Given the description of an element on the screen output the (x, y) to click on. 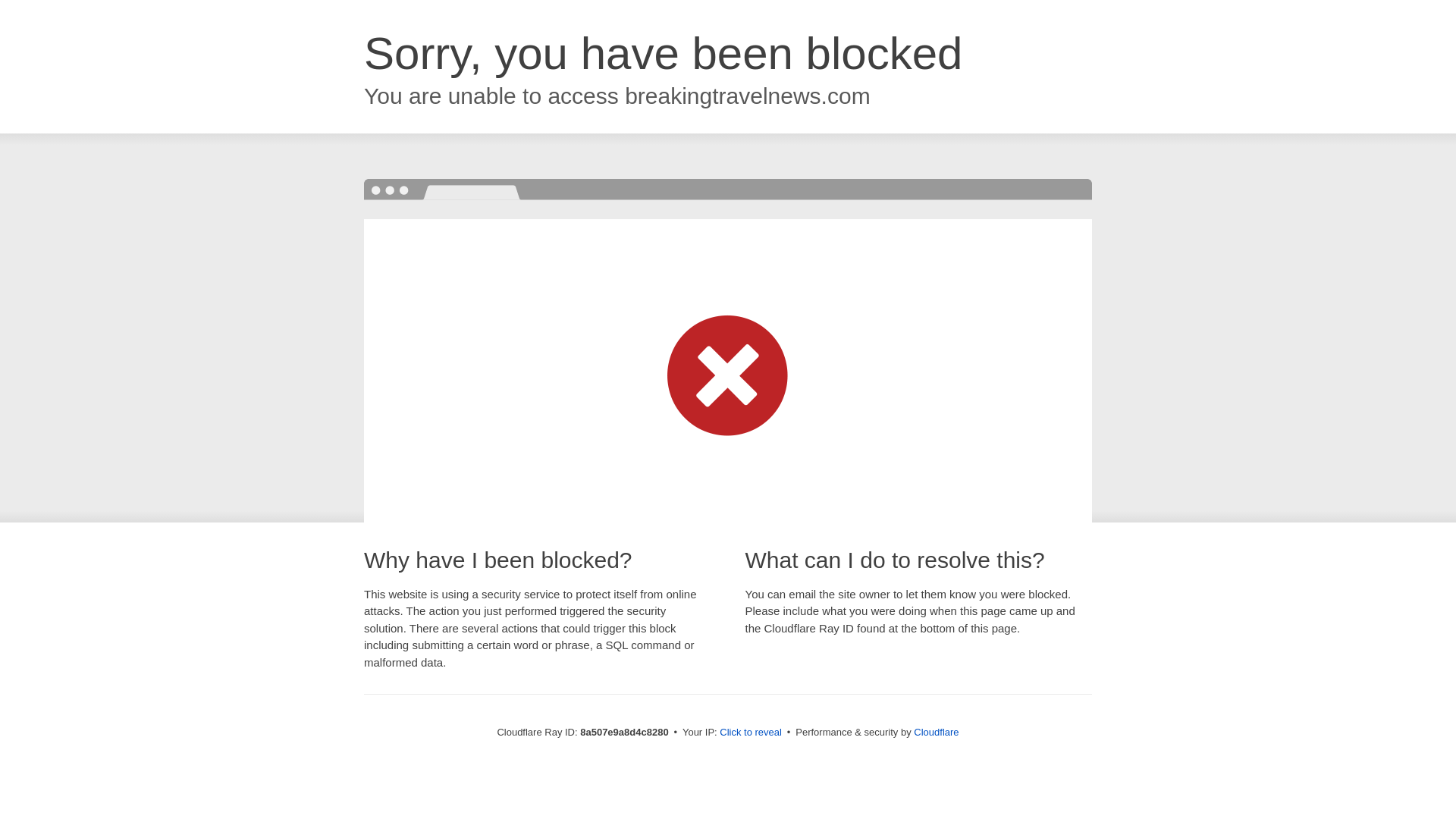
Cloudflare (936, 731)
Click to reveal (750, 732)
